Given the description of an element on the screen output the (x, y) to click on. 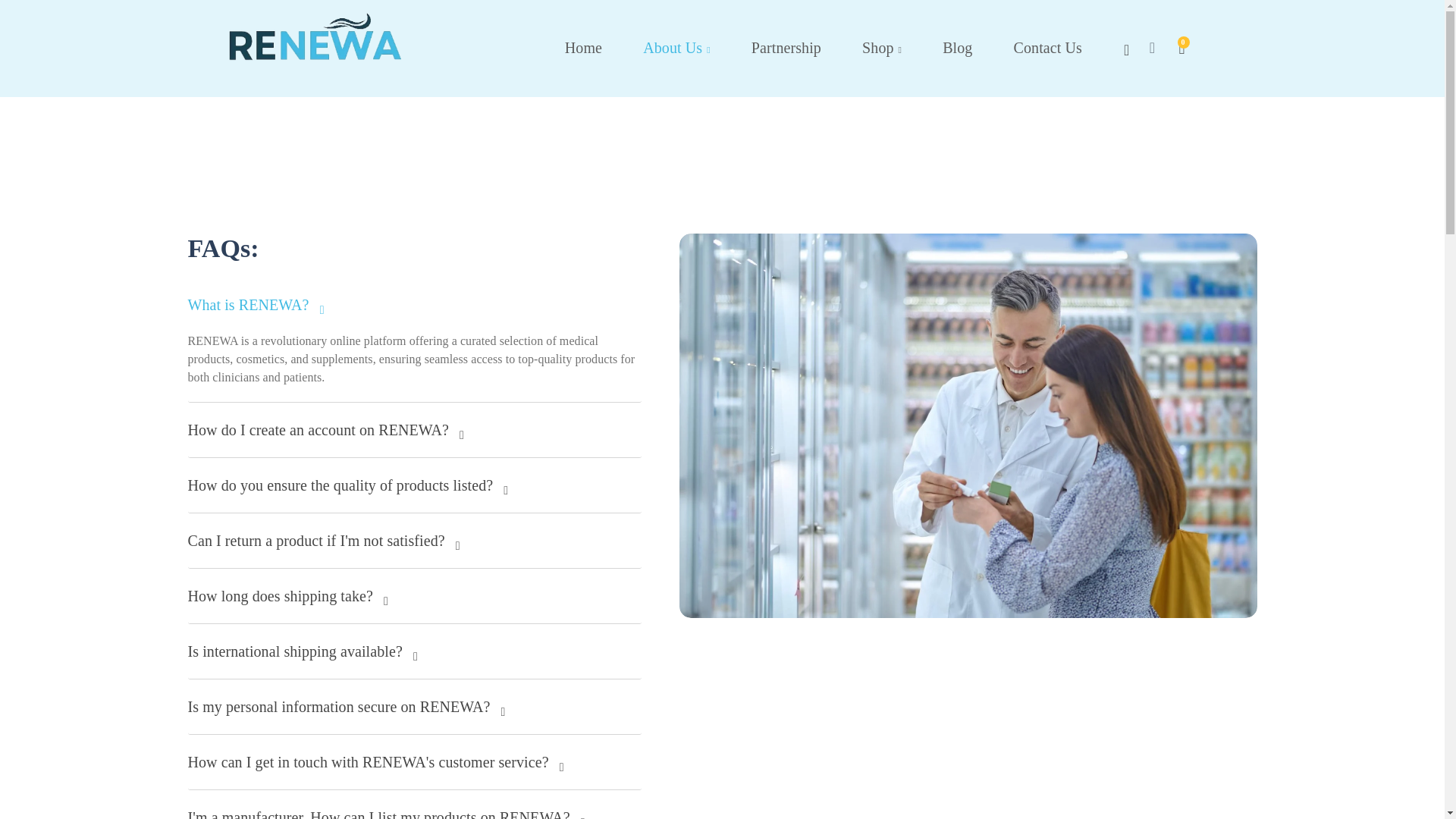
Home (583, 47)
Blog (957, 47)
renewa-logo-transformed (304, 45)
Contact Us (1047, 47)
Partnership (786, 47)
Shop (881, 48)
0 (1171, 48)
About Us (676, 48)
